Given the description of an element on the screen output the (x, y) to click on. 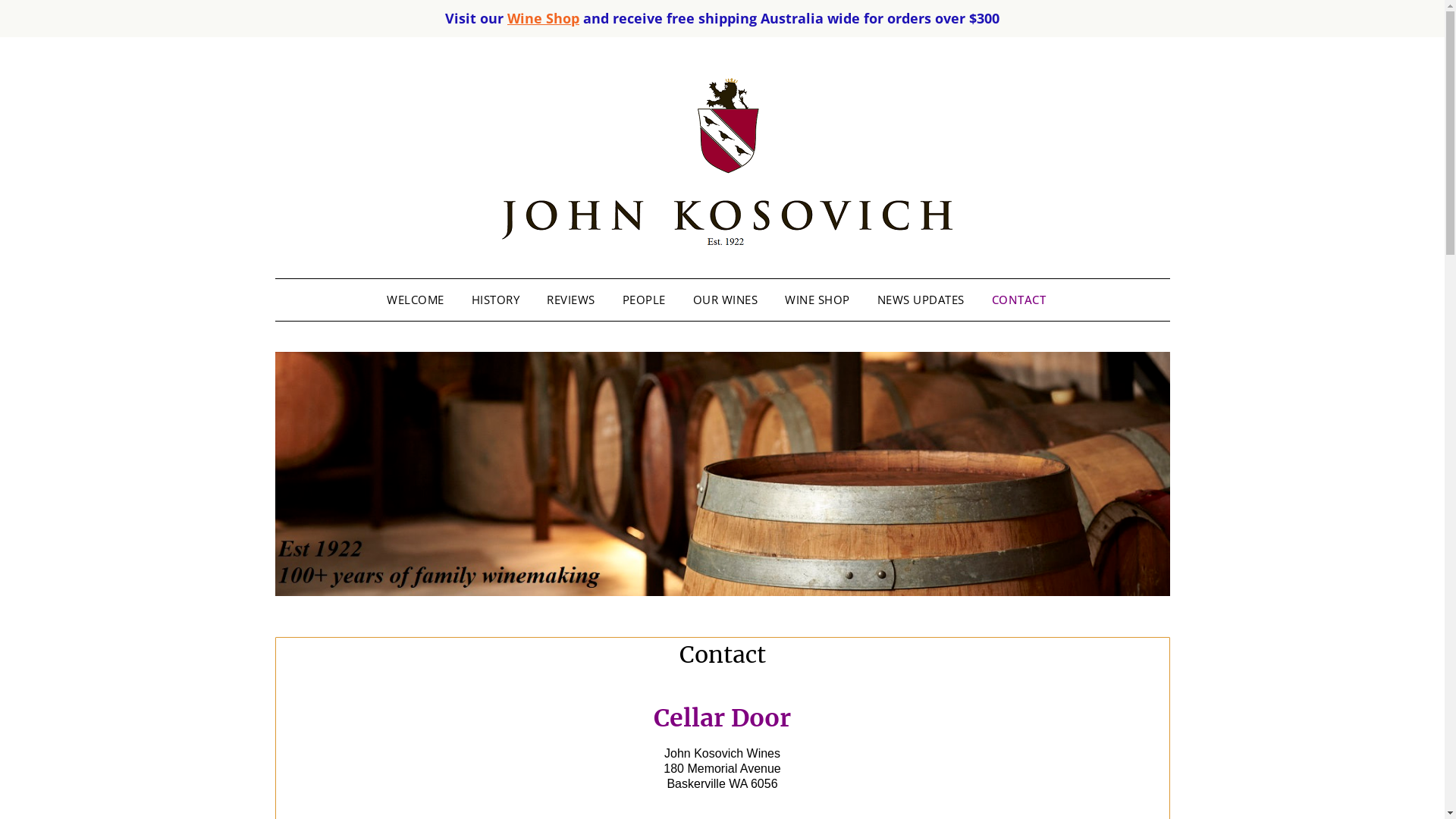
Wine Shop Element type: text (543, 18)
PEOPLE Element type: text (643, 299)
HISTORY Element type: text (495, 299)
REVIEWS Element type: text (570, 299)
OUR WINES Element type: text (725, 299)
CONTACT Element type: text (1018, 299)
WELCOME Element type: text (421, 299)
NEWS UPDATES Element type: text (919, 299)
WINE SHOP Element type: text (817, 299)
